Given the description of an element on the screen output the (x, y) to click on. 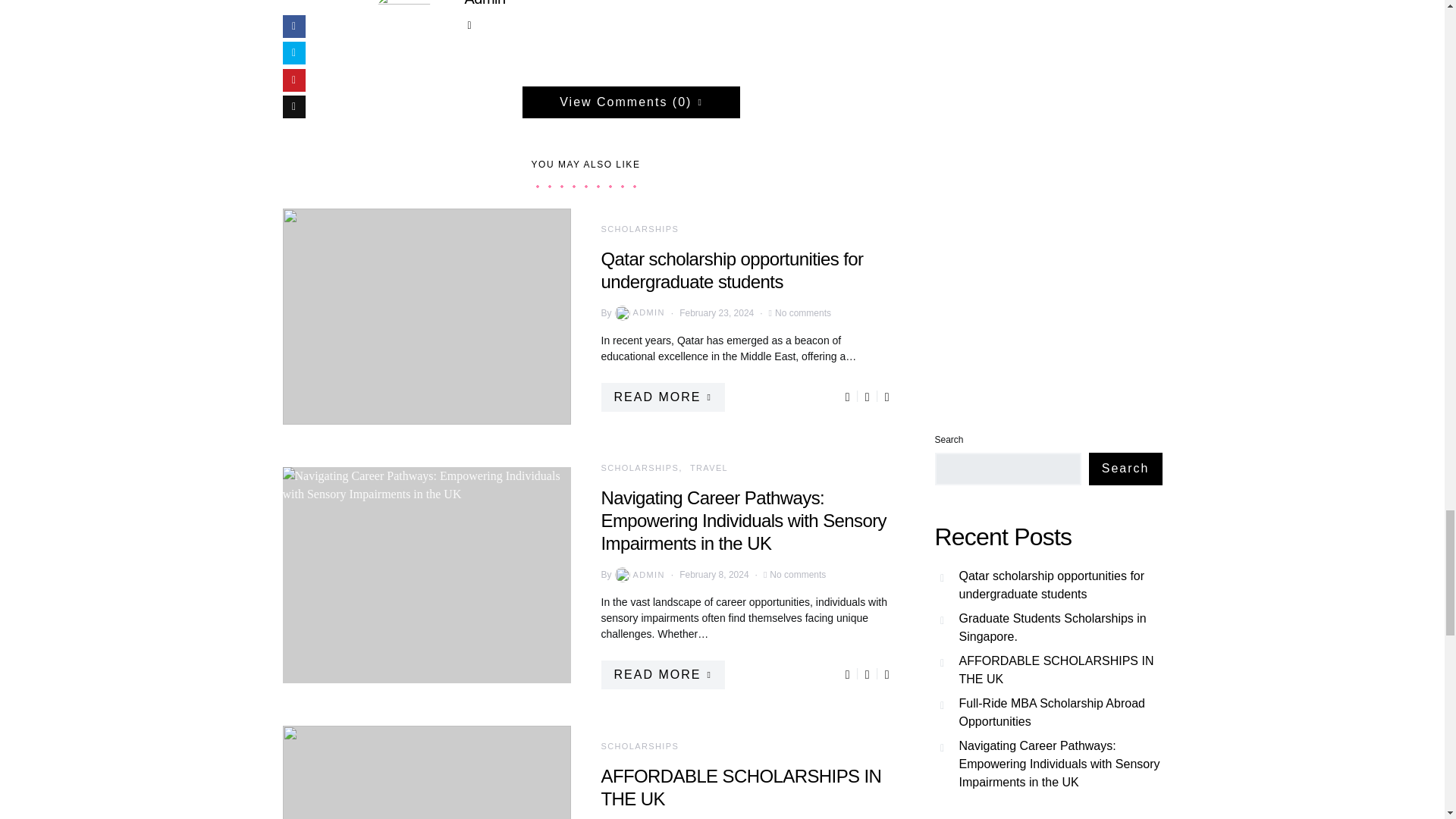
Admin (484, 3)
READ MORE (661, 396)
ADMIN (638, 312)
Qatar scholarship opportunities for undergraduate students (731, 269)
View all posts by Admin (638, 312)
View all posts by Admin (638, 574)
SCHOLARSHIPS (638, 228)
No comments (802, 313)
